Given the description of an element on the screen output the (x, y) to click on. 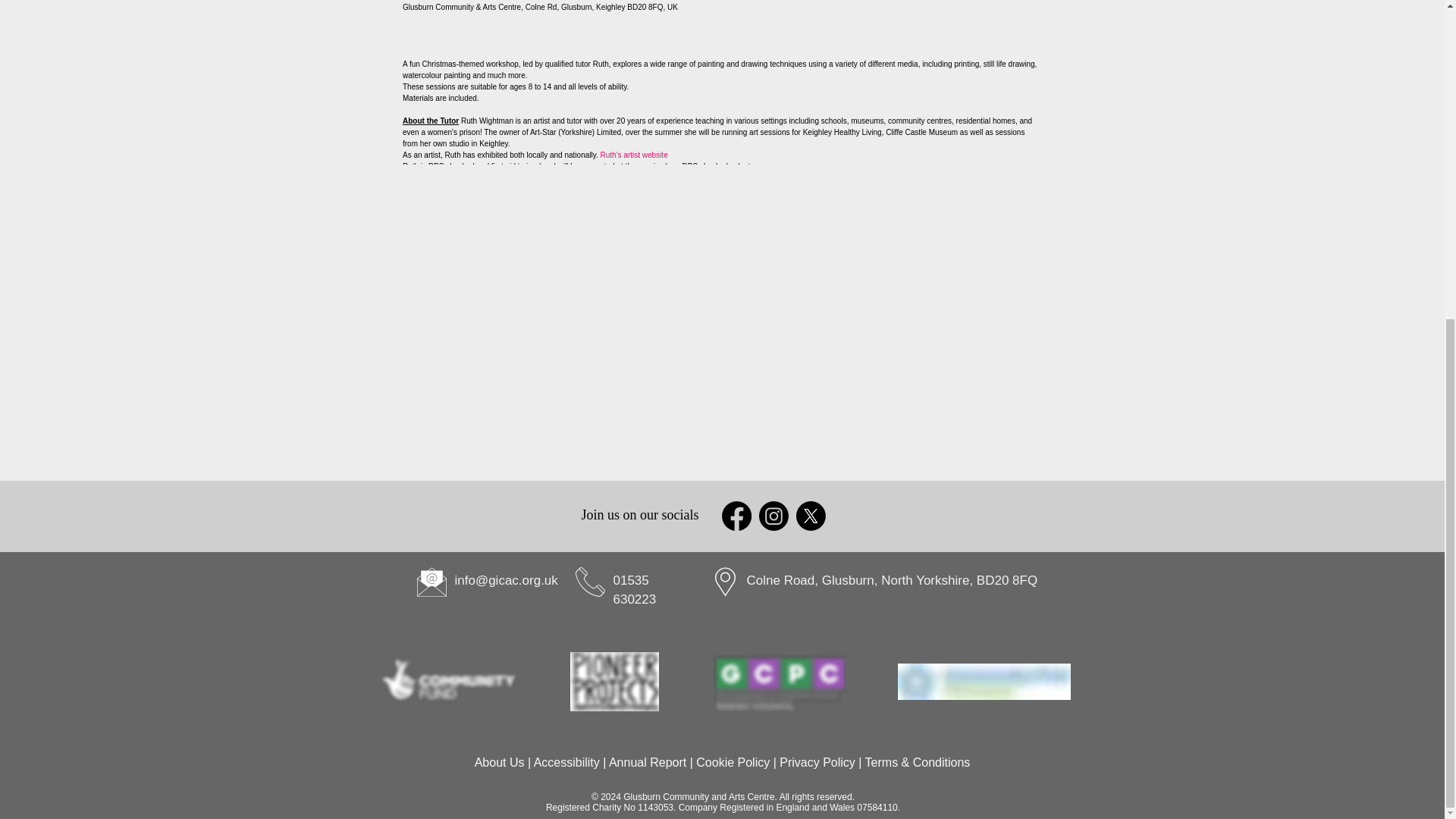
Ruth's artist website (633, 154)
